Given the description of an element on the screen output the (x, y) to click on. 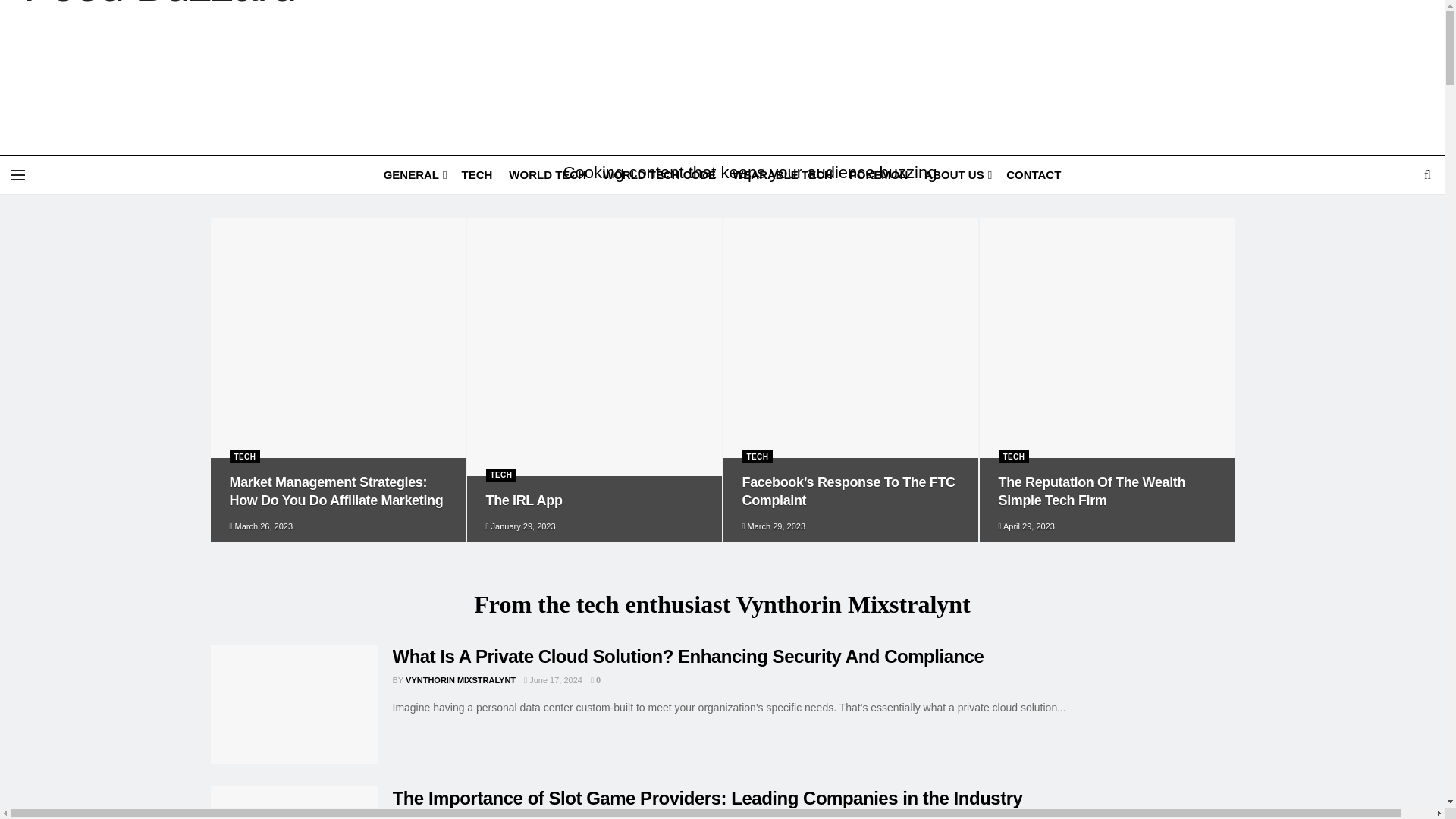
WORLD TECH CODE (659, 174)
The IRL App (523, 500)
TECH (500, 474)
ABOUT US (957, 174)
WORLD TECH (547, 174)
GENERAL (414, 174)
TECH (476, 174)
POKEMON (878, 174)
WEARABLE TECH (782, 174)
